Given the description of an element on the screen output the (x, y) to click on. 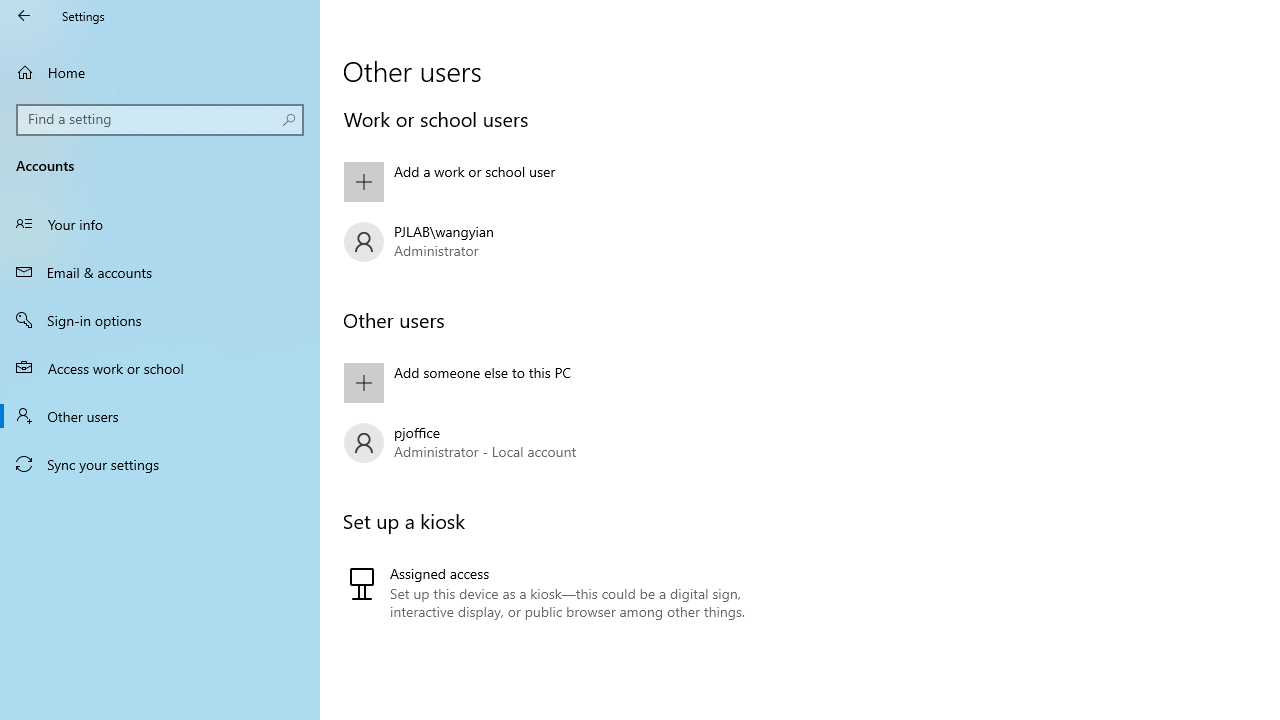
pjoffice Administrator - Local account (563, 443)
Search box, Find a setting (160, 119)
Email & accounts (160, 271)
Other users (160, 415)
Sign-in options (160, 319)
Home (160, 71)
PJLAB\wangyian Administrator (563, 241)
Add a work or school user (563, 181)
Access work or school (160, 367)
Sync your settings (160, 463)
Back (24, 15)
Your info (160, 223)
Add someone else to this PC (563, 382)
